Given the description of an element on the screen output the (x, y) to click on. 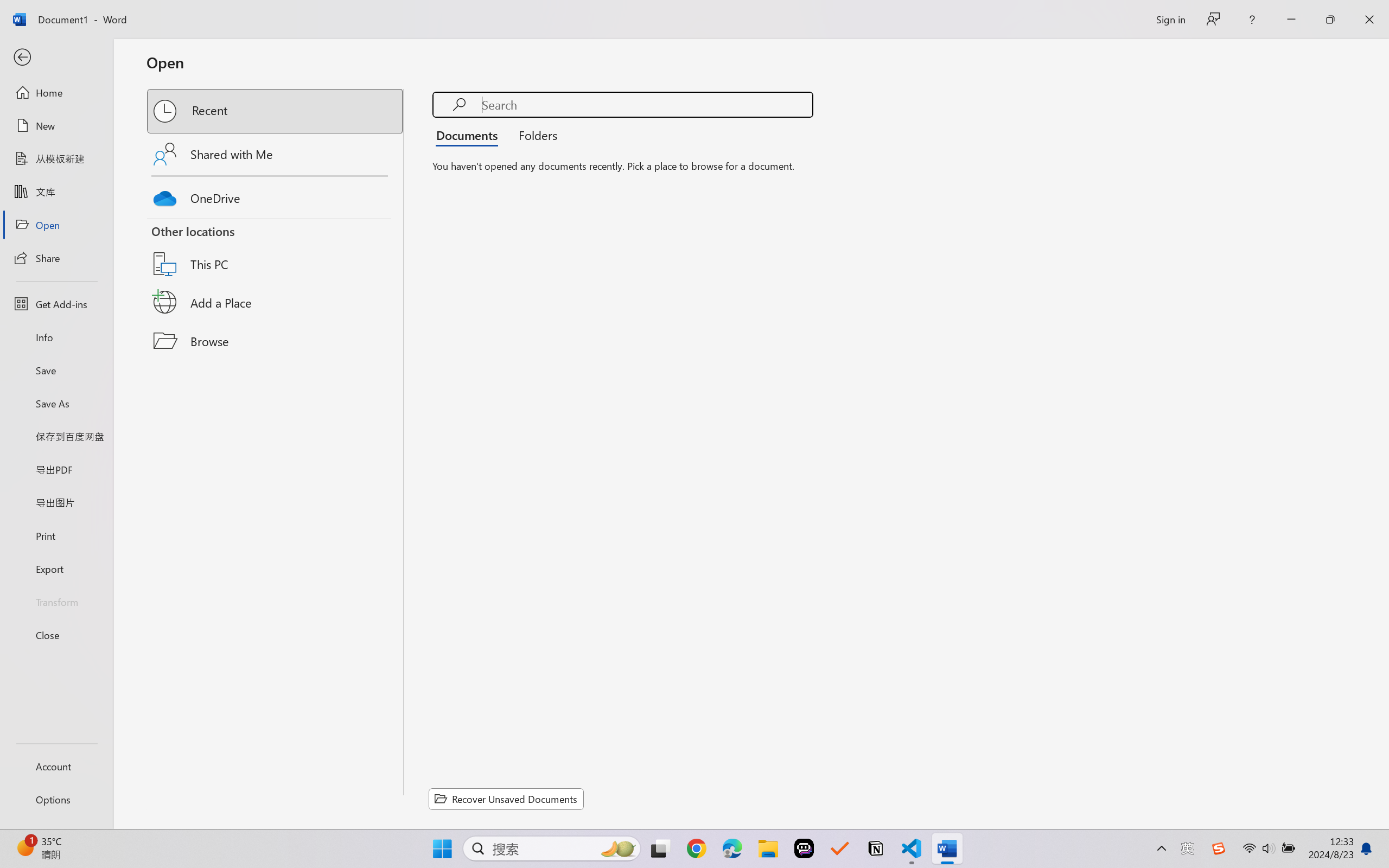
This PC (275, 249)
Folders (534, 134)
Browse (275, 340)
Print (56, 535)
Save As (56, 403)
Info (56, 337)
Transform (56, 601)
Account (56, 765)
